Given the description of an element on the screen output the (x, y) to click on. 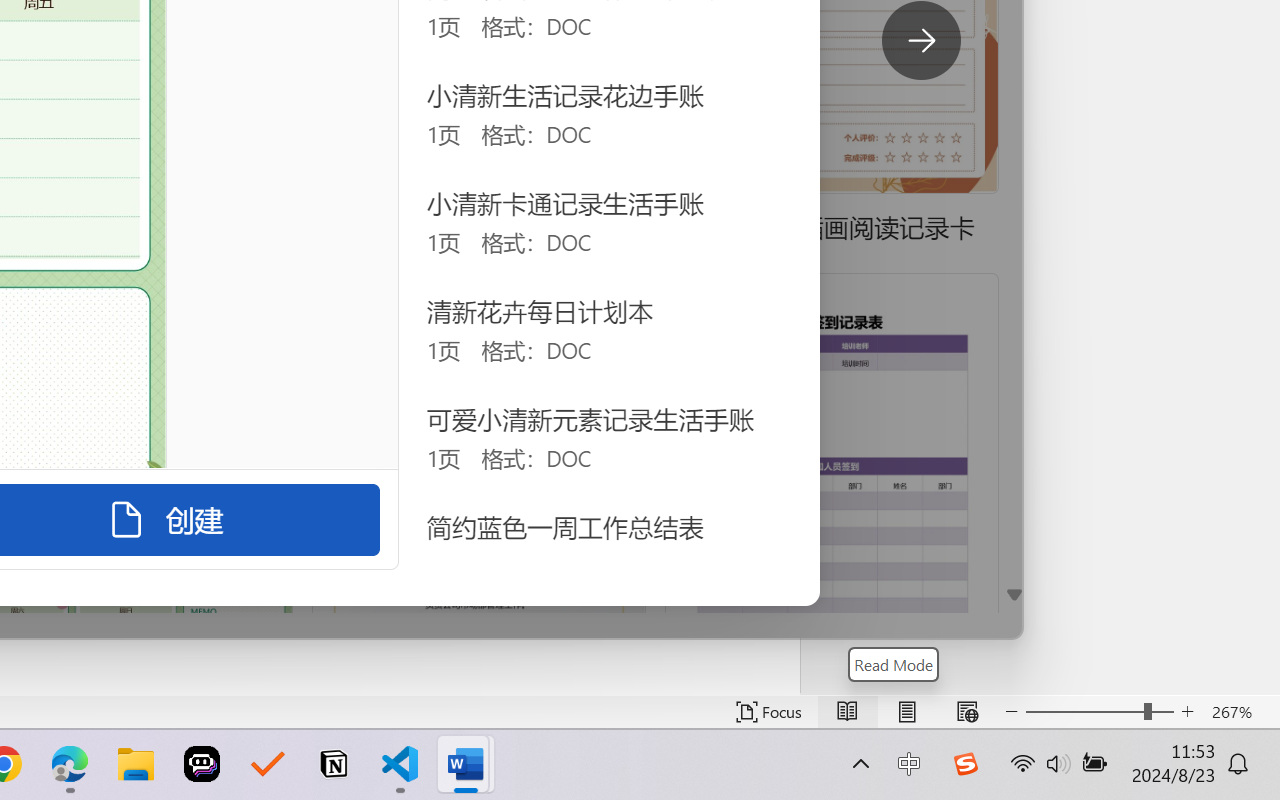
Text Size (1100, 712)
Increase Text Size (1187, 712)
Decrease Text Size (1011, 712)
